Given the description of an element on the screen output the (x, y) to click on. 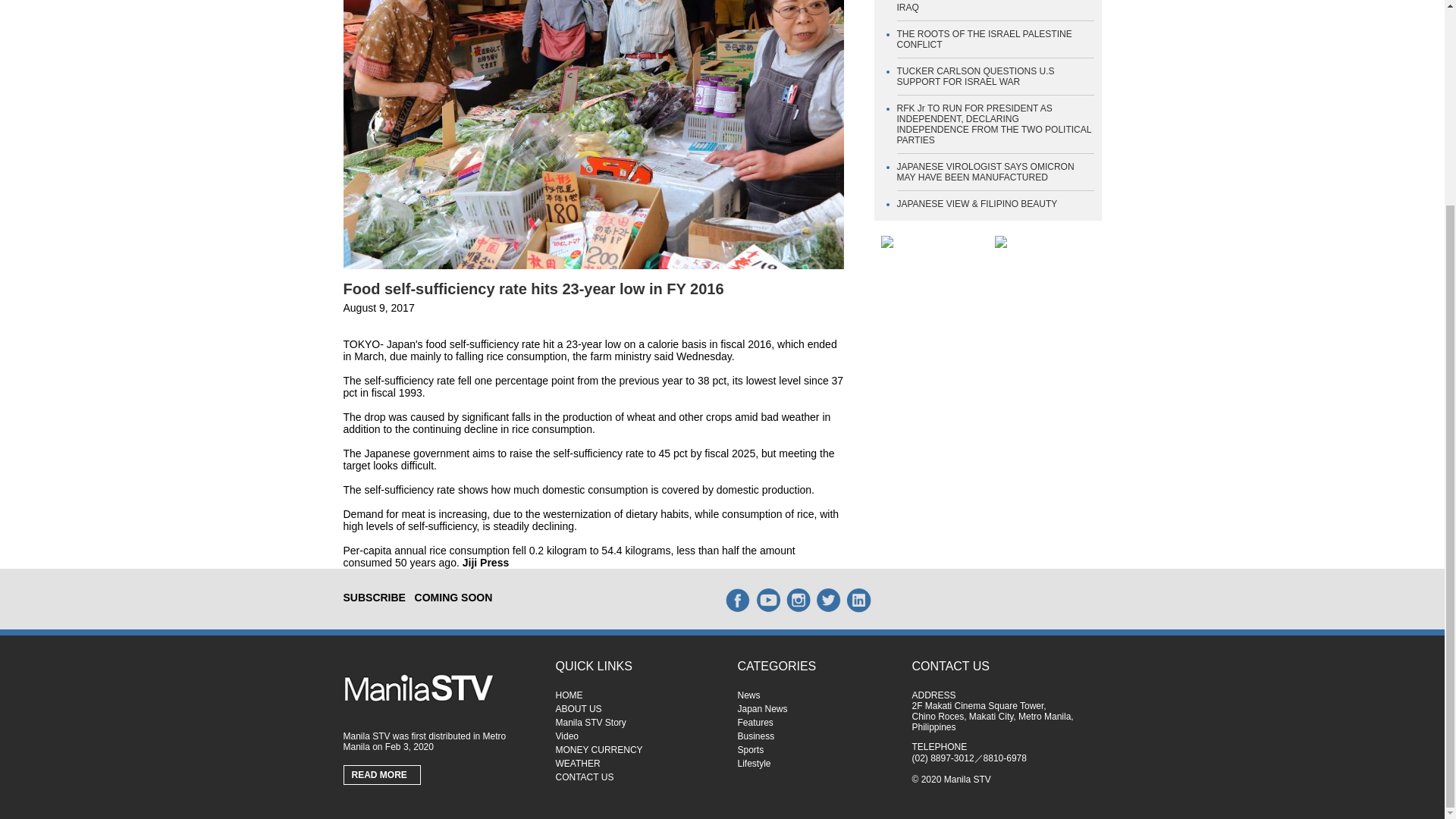
WEATHER (634, 763)
Food self-sufficiency rate hits 23-year low in FY 2016 (532, 288)
MONEY CURRENCY (634, 749)
Video (634, 736)
Features (816, 722)
READ MORE (382, 774)
HOME (634, 695)
Manila STV Story (634, 722)
CONTACT US (634, 777)
